Given the description of an element on the screen output the (x, y) to click on. 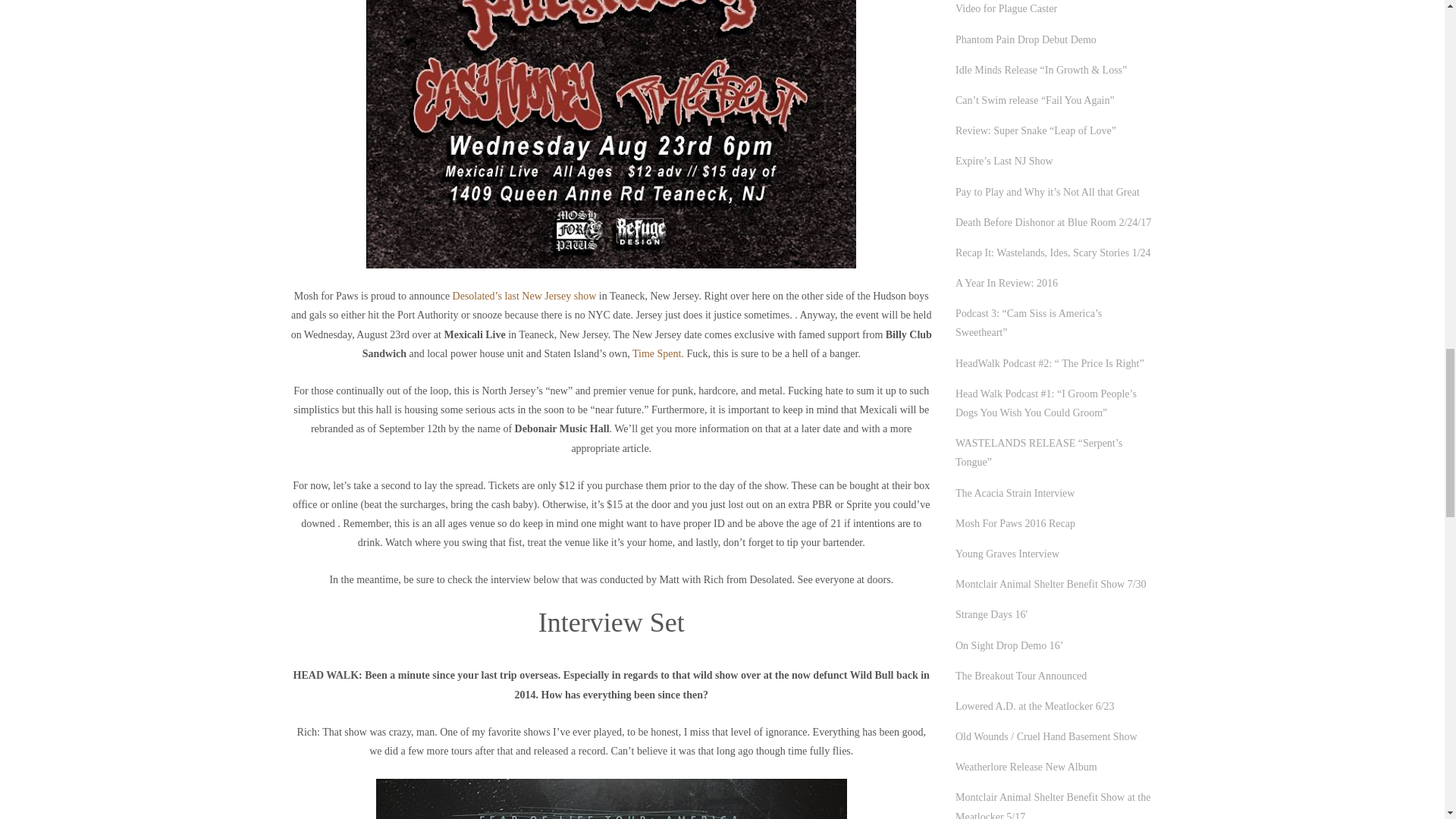
Time Spent. (657, 353)
